Given the description of an element on the screen output the (x, y) to click on. 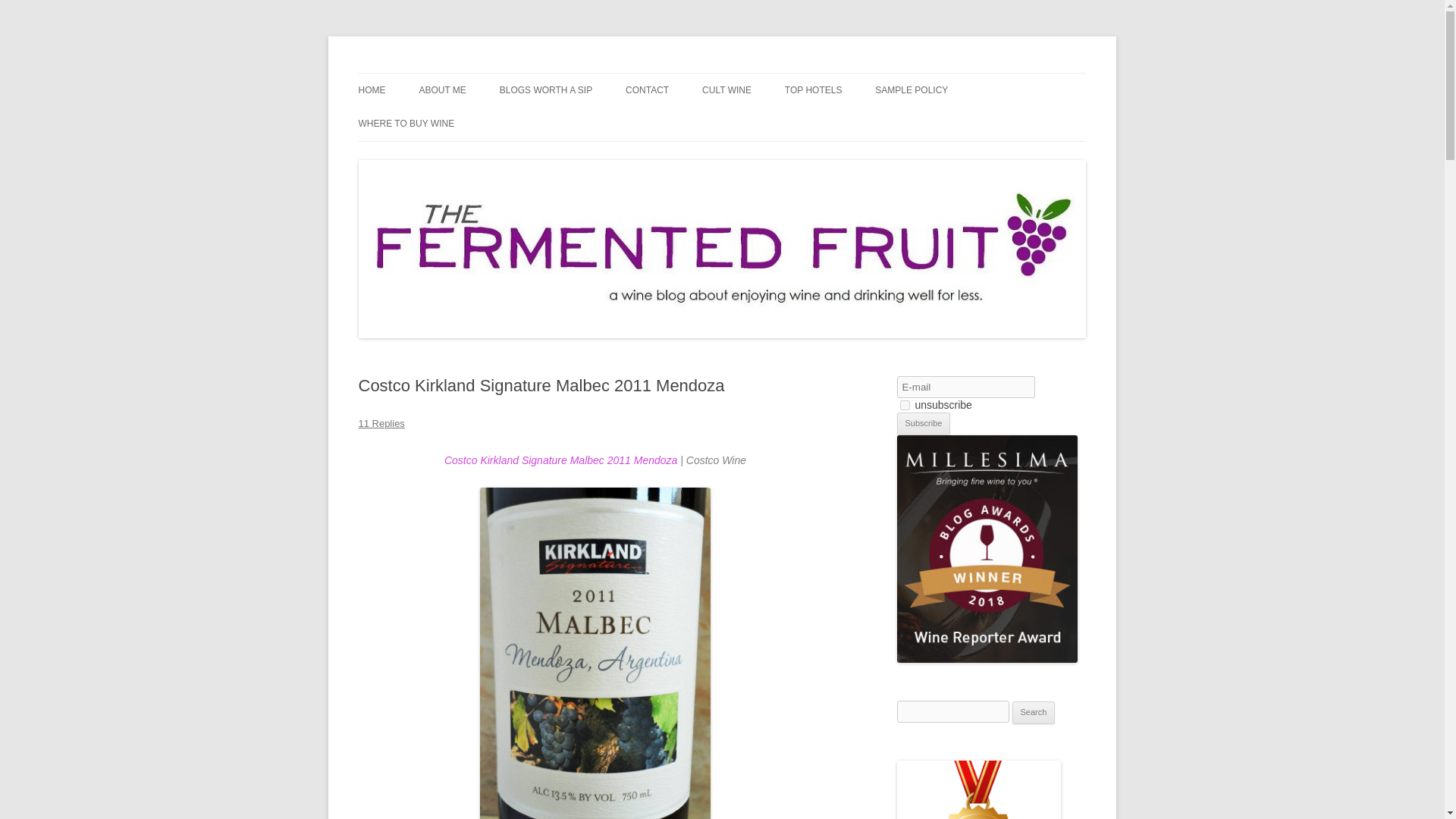
yes (903, 405)
The Fermented Fruit (453, 72)
WHERE TO BUY WINE (406, 123)
Subscribe (923, 423)
CULT WINE (726, 90)
CONTACT (647, 90)
The Fermented Fruit (453, 72)
BLOGS WORTH A SIP (545, 90)
